Given the description of an element on the screen output the (x, y) to click on. 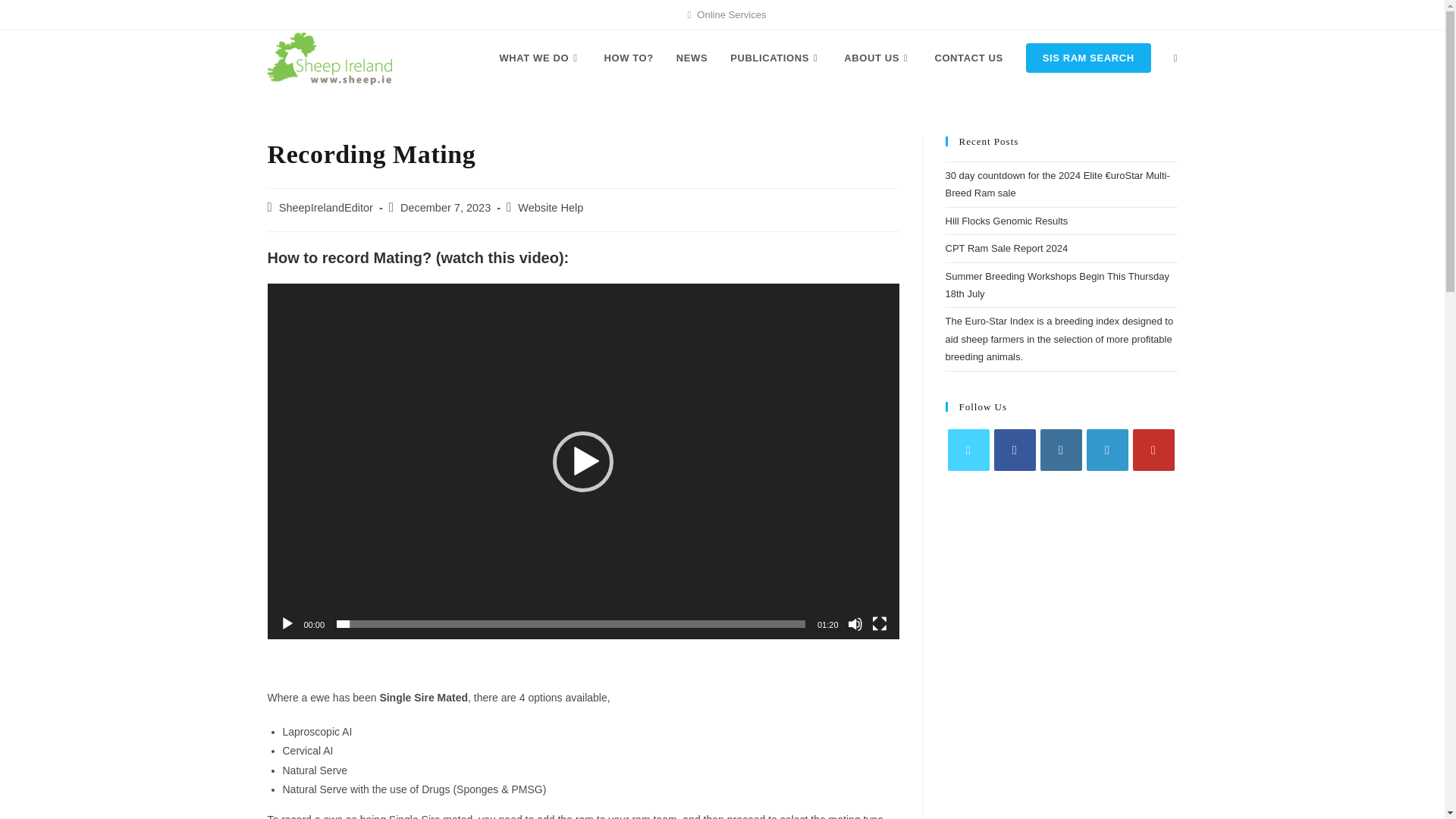
WHAT WE DO (539, 58)
ABOUT US (877, 58)
Fullscreen (879, 623)
PUBLICATIONS (775, 58)
Mute (855, 623)
SIS RAM SEARCH (1087, 58)
Play (286, 623)
NEWS (692, 58)
Online Services (731, 14)
HOW TO? (627, 58)
CONTACT US (968, 58)
Posts by SheepIrelandEditor (325, 207)
